Given the description of an element on the screen output the (x, y) to click on. 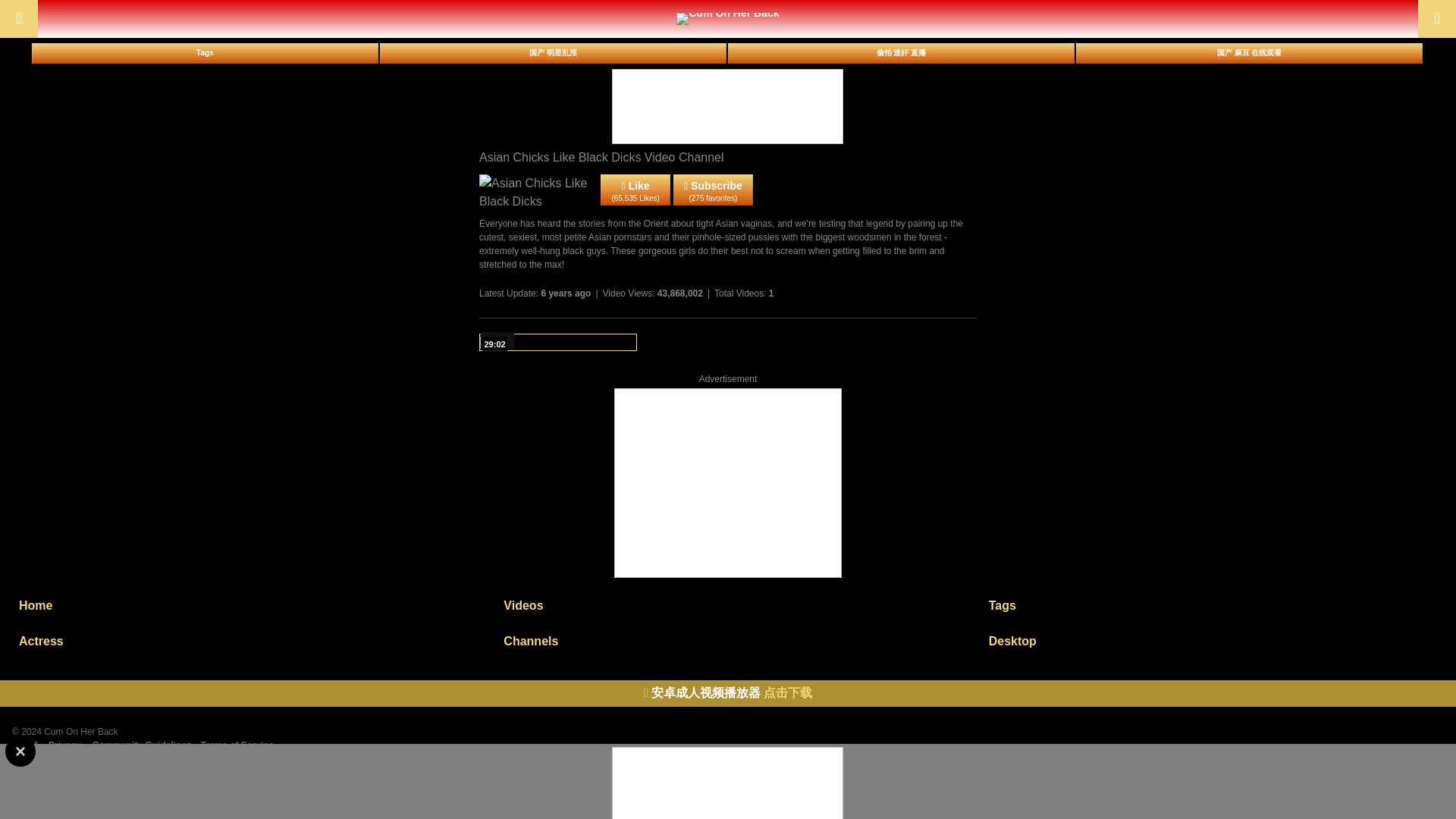
Privacy (64, 745)
Community Guidelines (142, 745)
Terms of Service (236, 745)
Home (242, 605)
Videos (726, 605)
29:02 (558, 342)
Actress (242, 641)
DMCA (25, 745)
Tags (1212, 605)
Tags (205, 53)
Desktop (1212, 641)
Channels (726, 641)
